Given the description of an element on the screen output the (x, y) to click on. 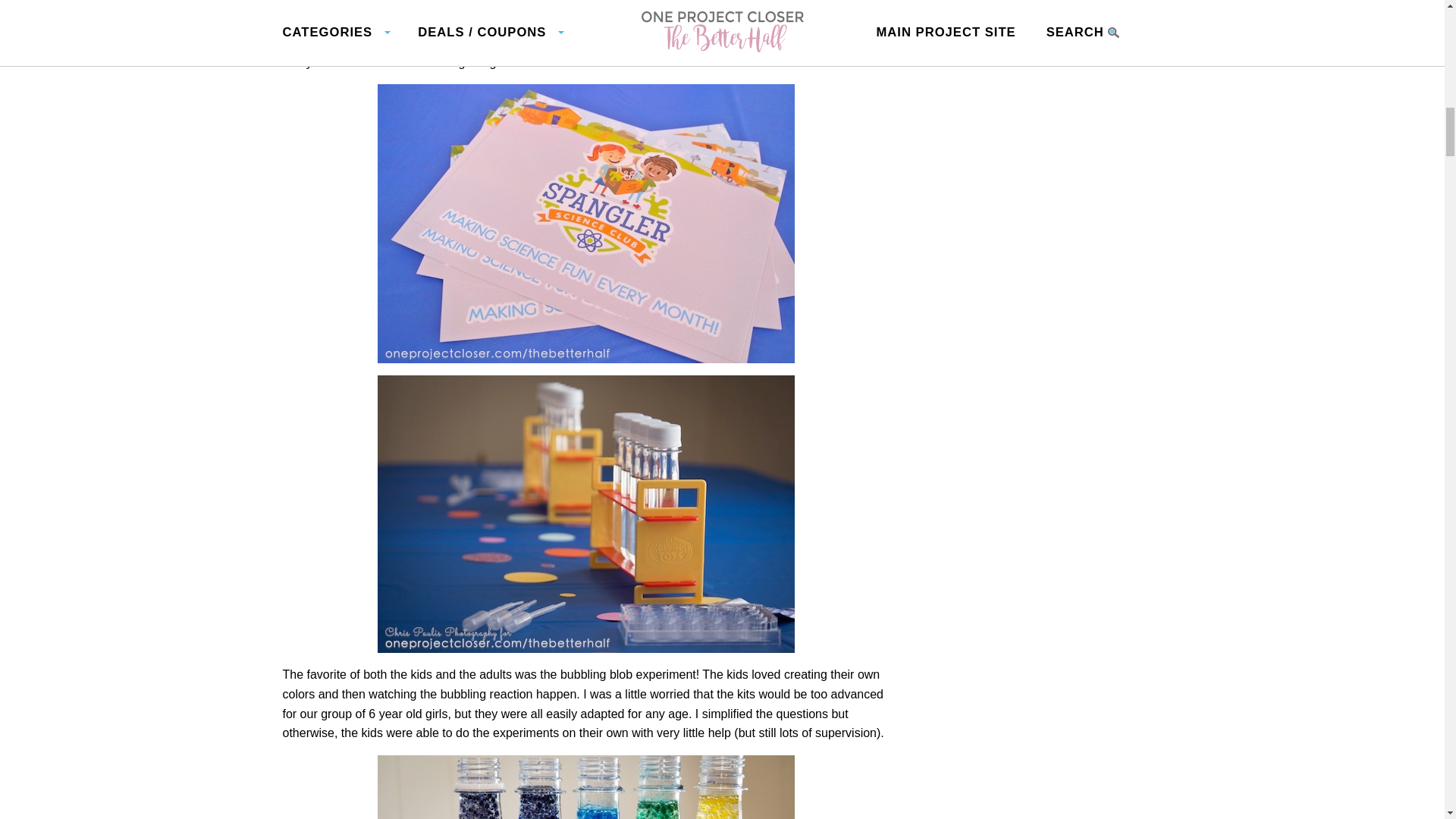
Spangler Science Club Kits (360, 11)
